Given the description of an element on the screen output the (x, y) to click on. 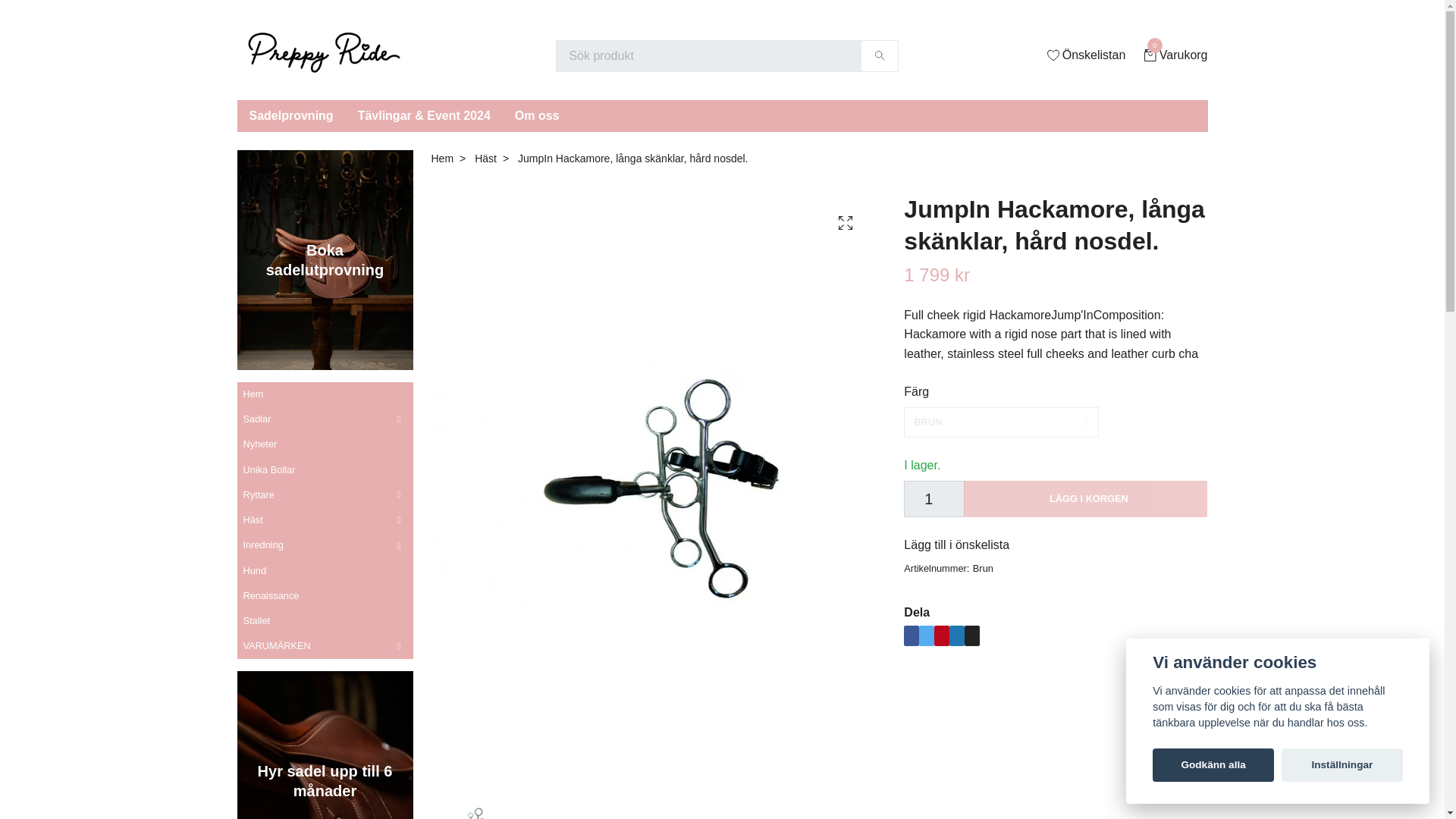
Om oss (537, 115)
Sadelprovning (290, 115)
Sadelprovning  (290, 115)
Preppy Ride (322, 56)
1 (933, 498)
Om oss (1174, 55)
